Given the description of an element on the screen output the (x, y) to click on. 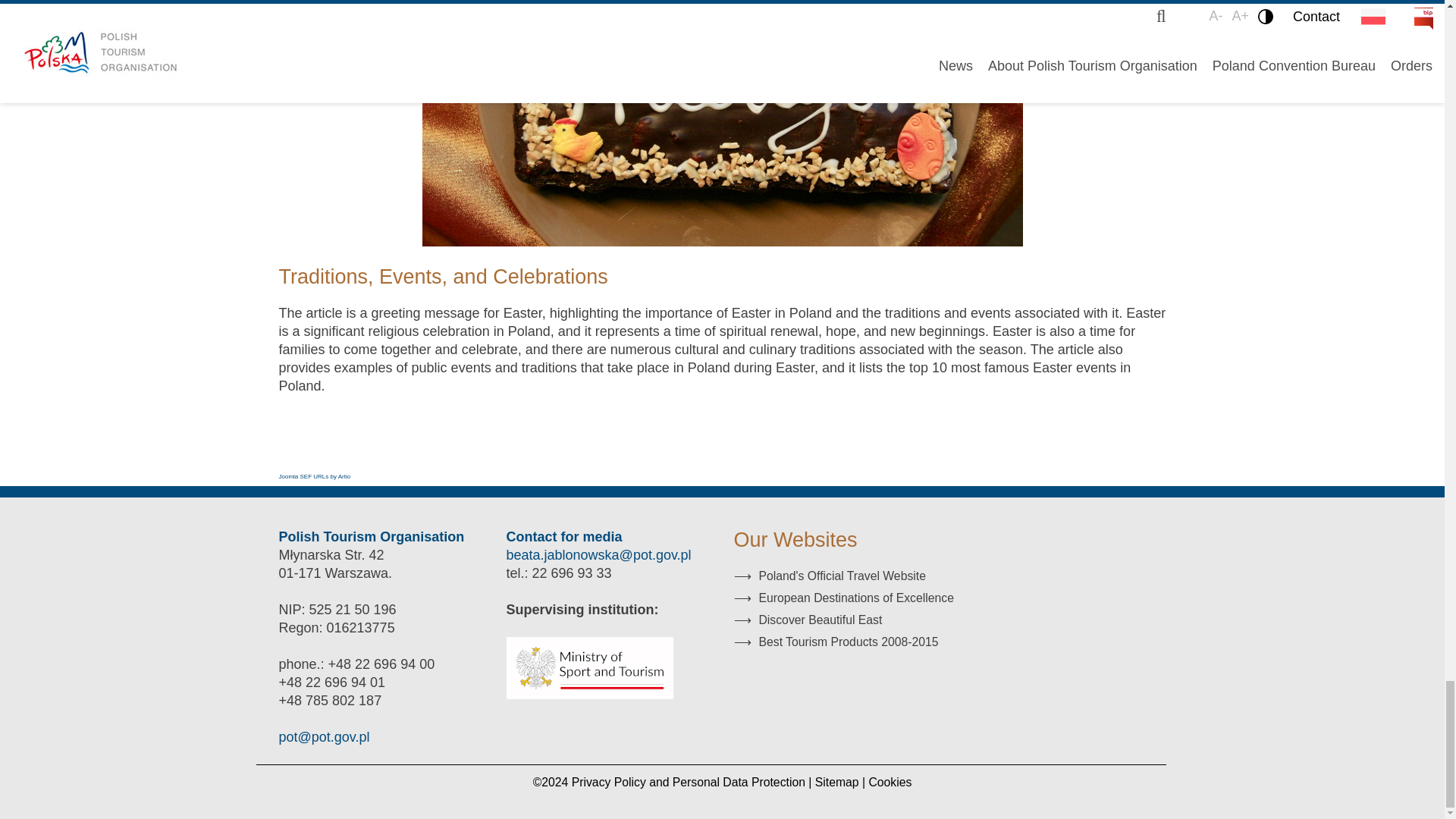
Polska Podaj Dalej - link open in new tab (836, 642)
